Given the description of an element on the screen output the (x, y) to click on. 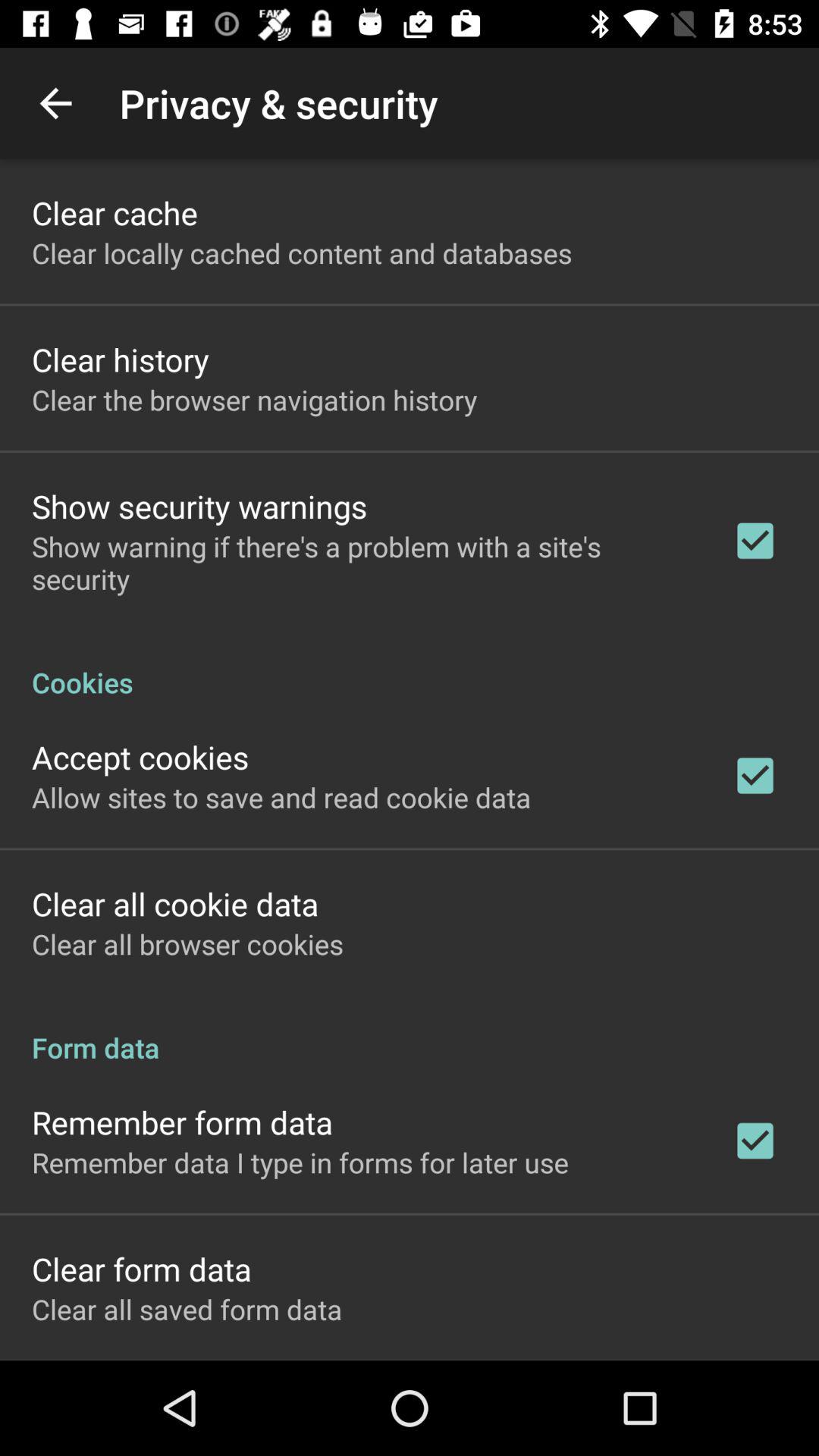
choose clear cache app (114, 212)
